Given the description of an element on the screen output the (x, y) to click on. 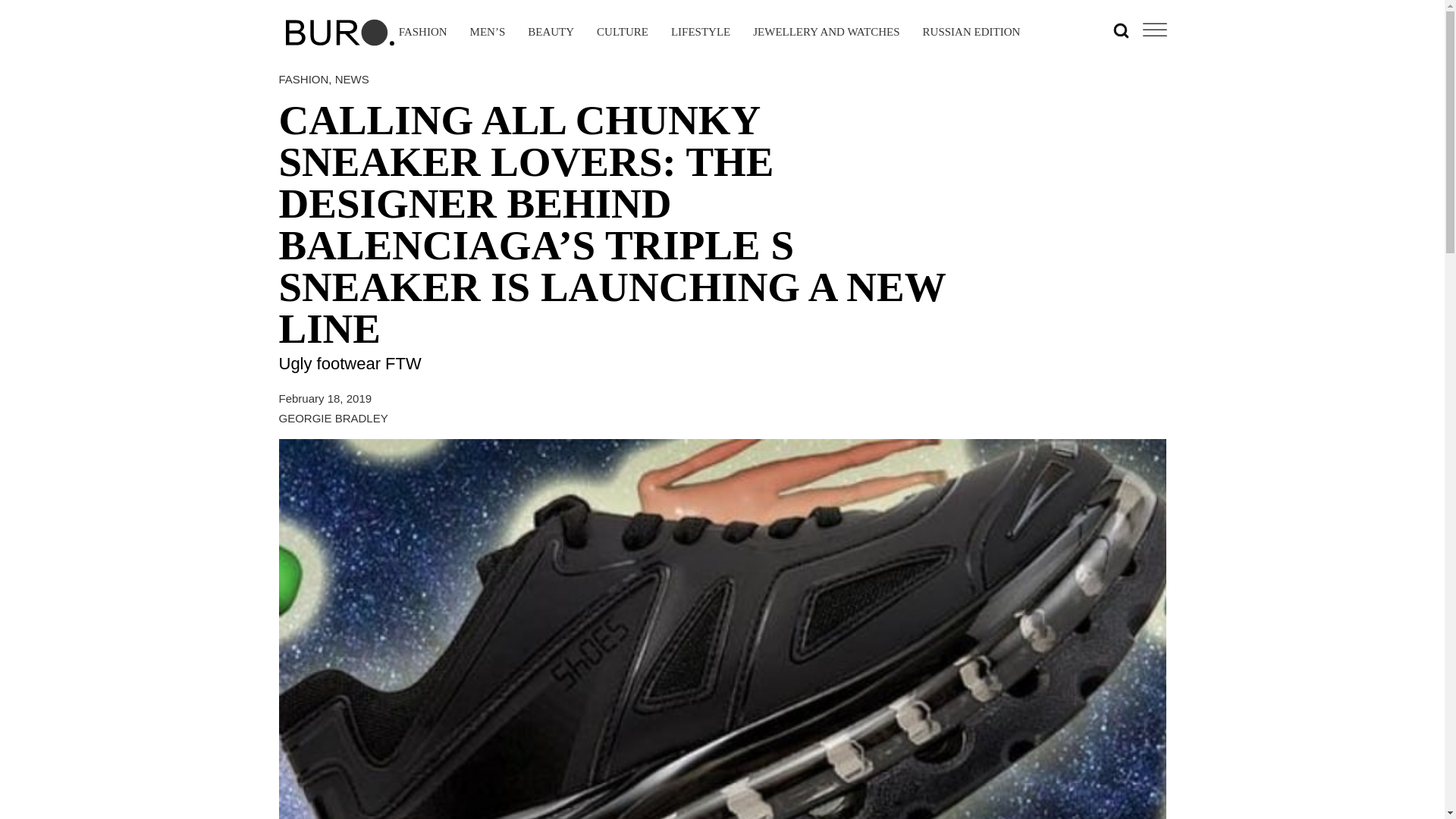
FASHION (422, 32)
GEORGIE BRADLEY (333, 418)
FASHION (304, 78)
BEAUTY (550, 32)
JEWELLERY AND WATCHES (825, 32)
LIFESTYLE (700, 32)
CULTURE (621, 32)
NEWS (351, 78)
